Given the description of an element on the screen output the (x, y) to click on. 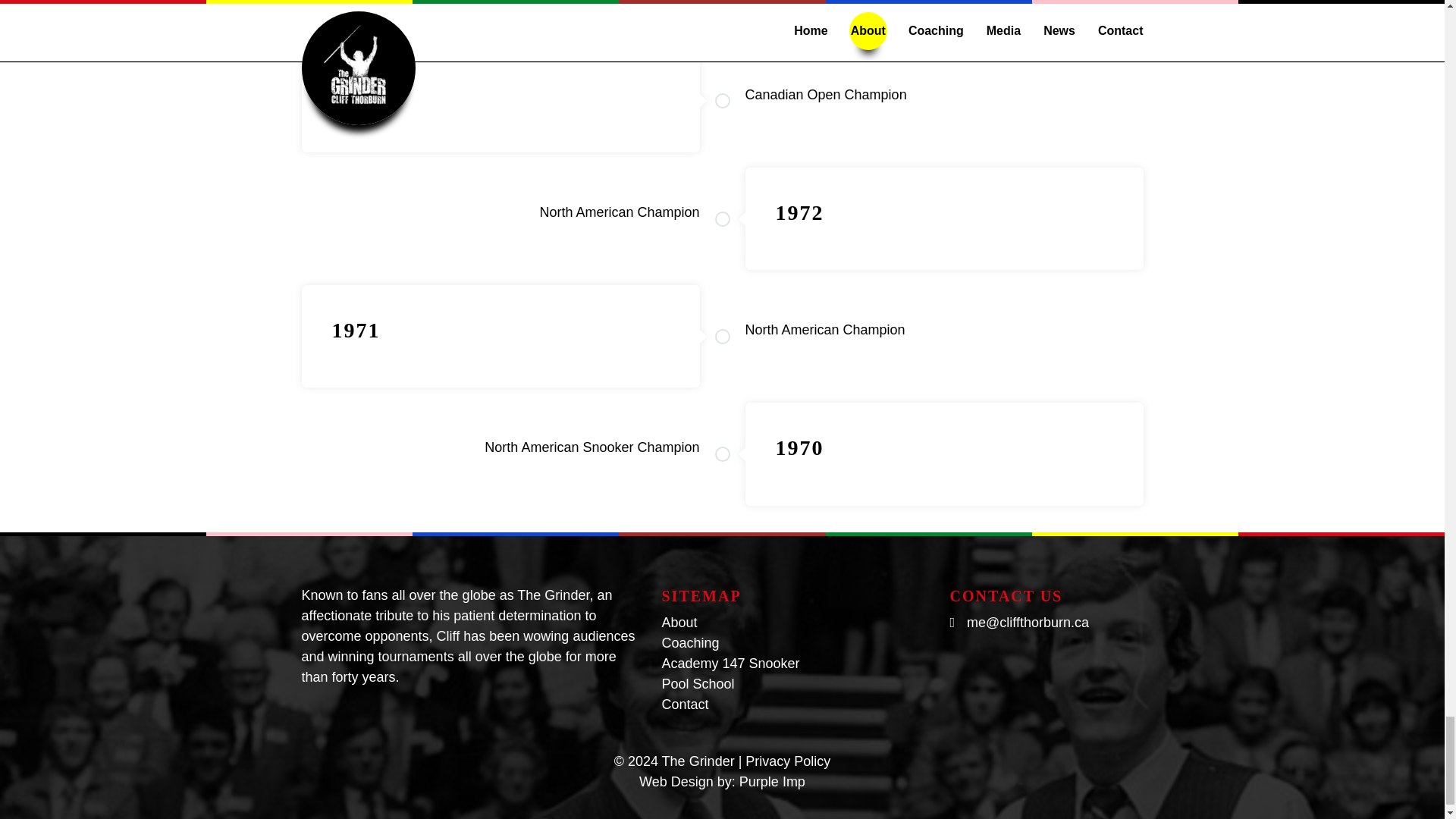
Purple Imp (772, 780)
Coaching (690, 642)
Contact (684, 703)
About (679, 621)
Privacy Policy (787, 761)
Academy 147 Snooker (730, 662)
Pool School (697, 683)
